Given the description of an element on the screen output the (x, y) to click on. 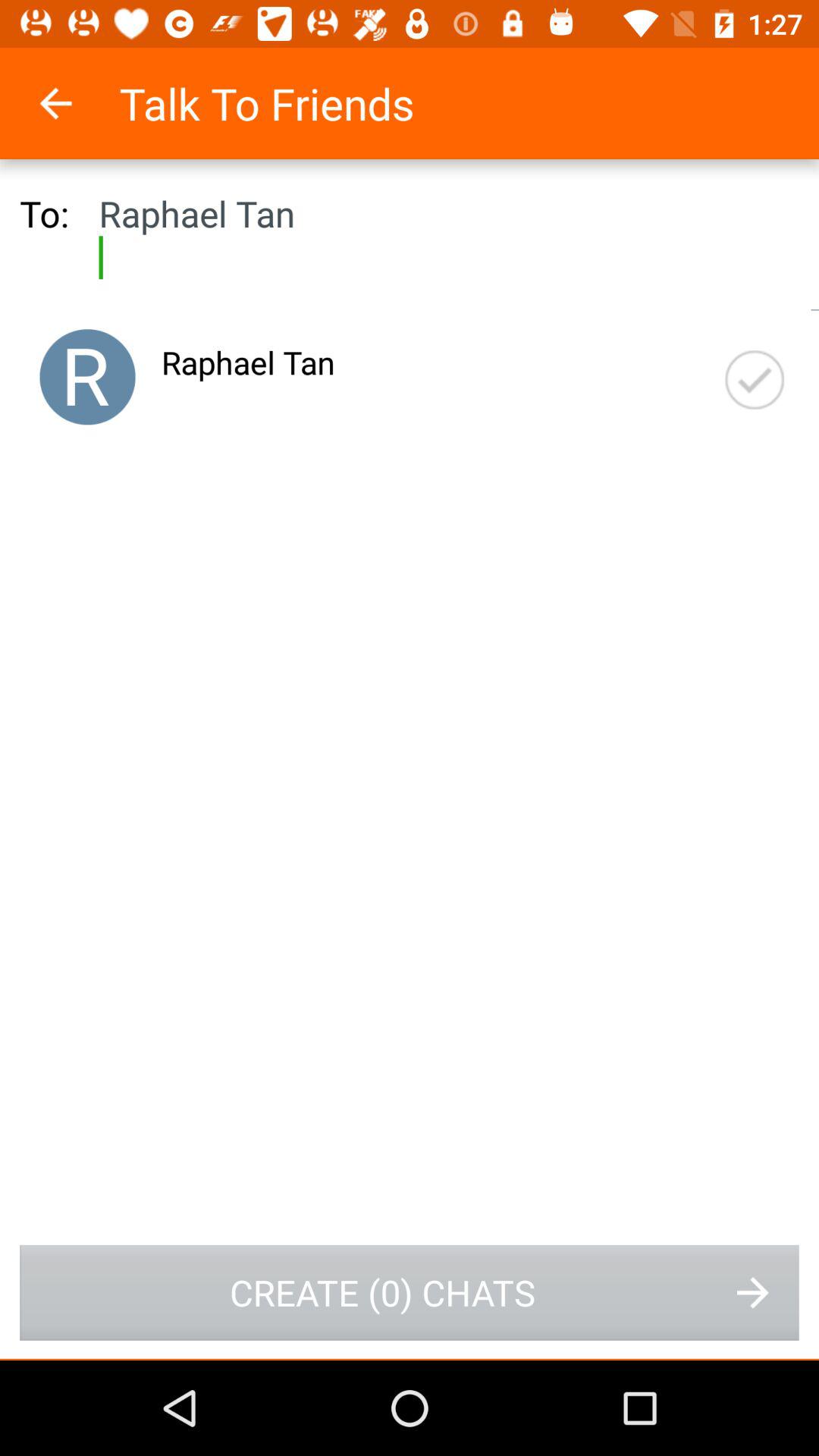
go back (75, 103)
